Given the description of an element on the screen output the (x, y) to click on. 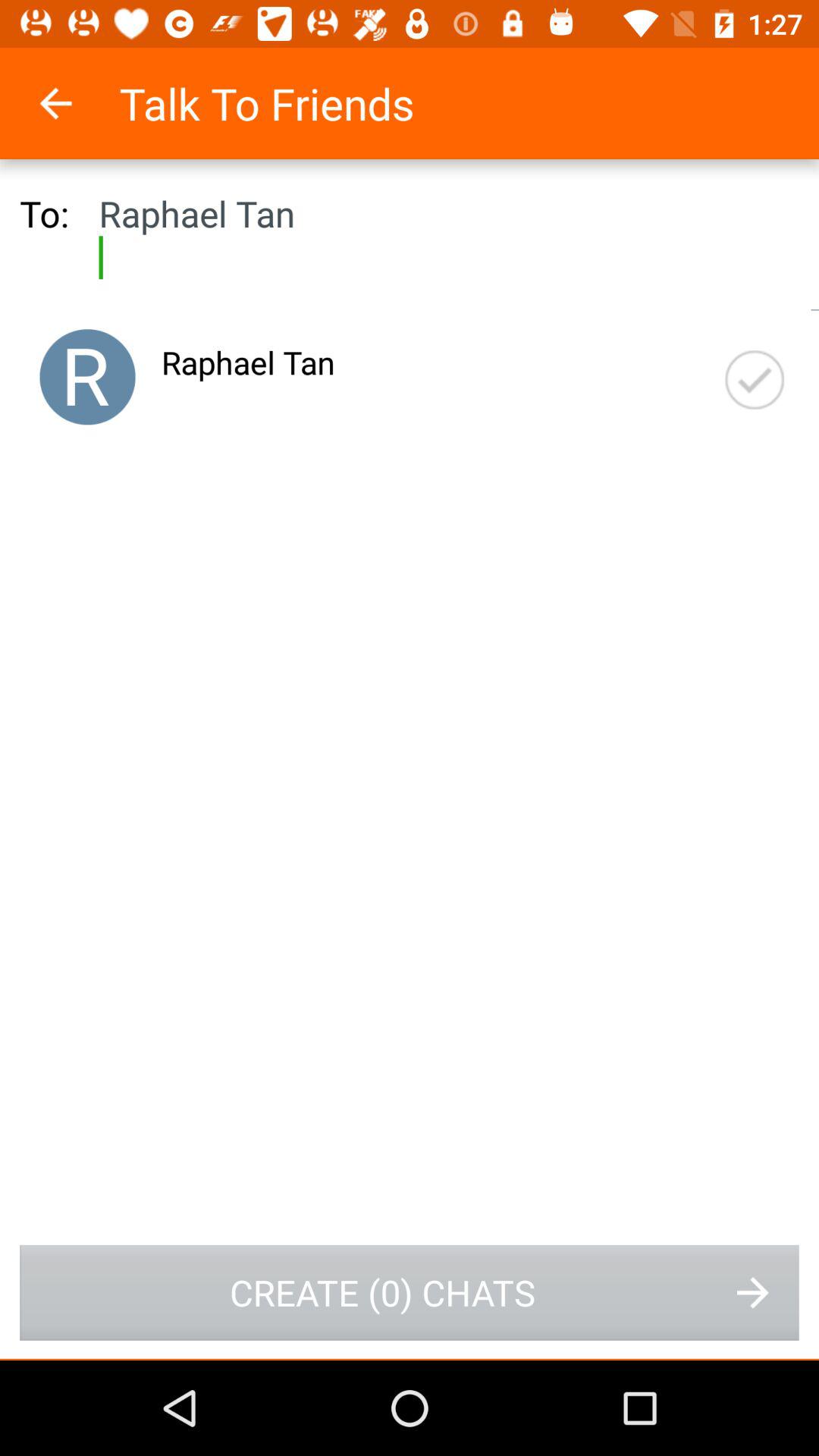
go back (75, 103)
